Given the description of an element on the screen output the (x, y) to click on. 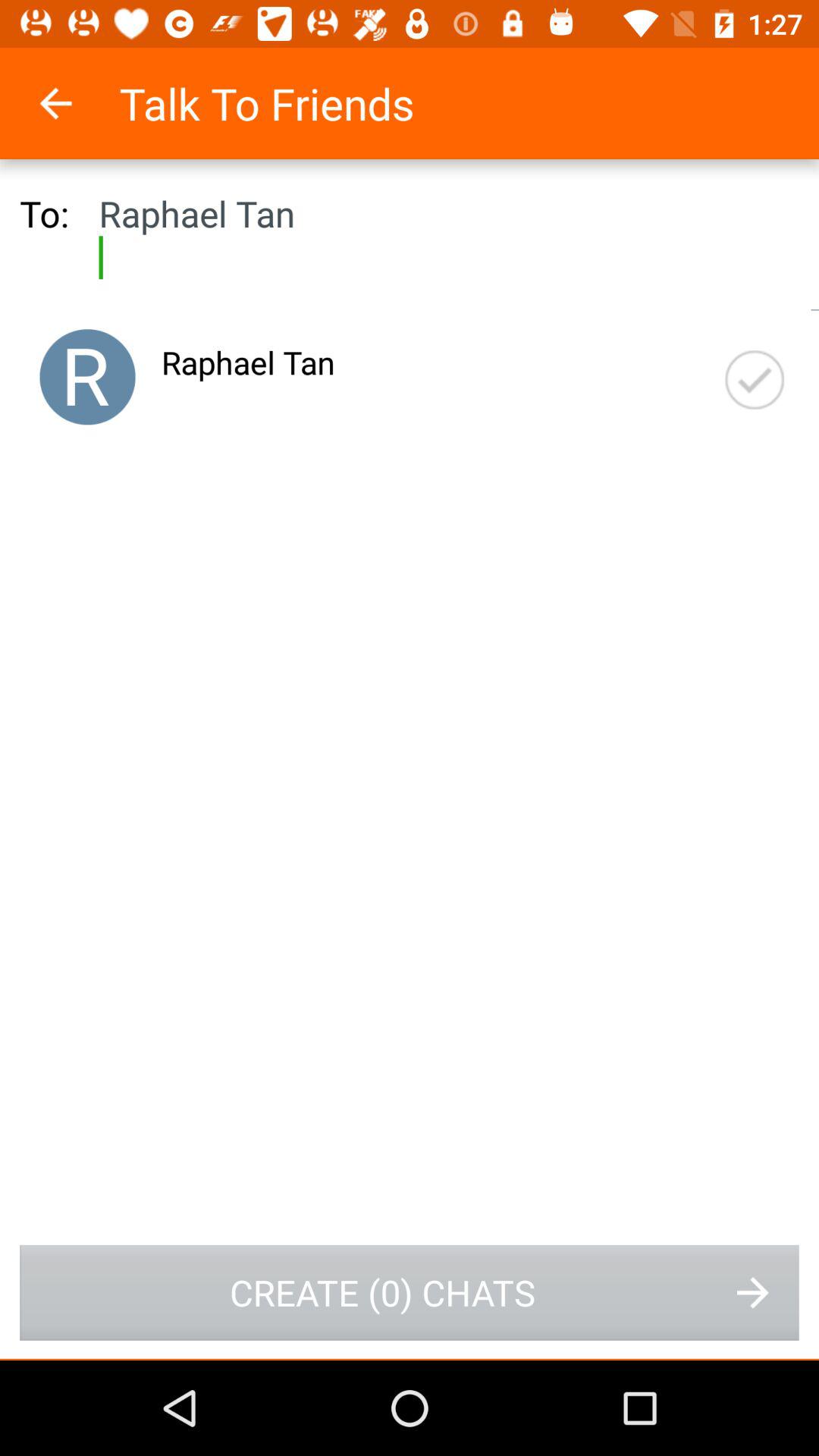
go back (75, 103)
